Given the description of an element on the screen output the (x, y) to click on. 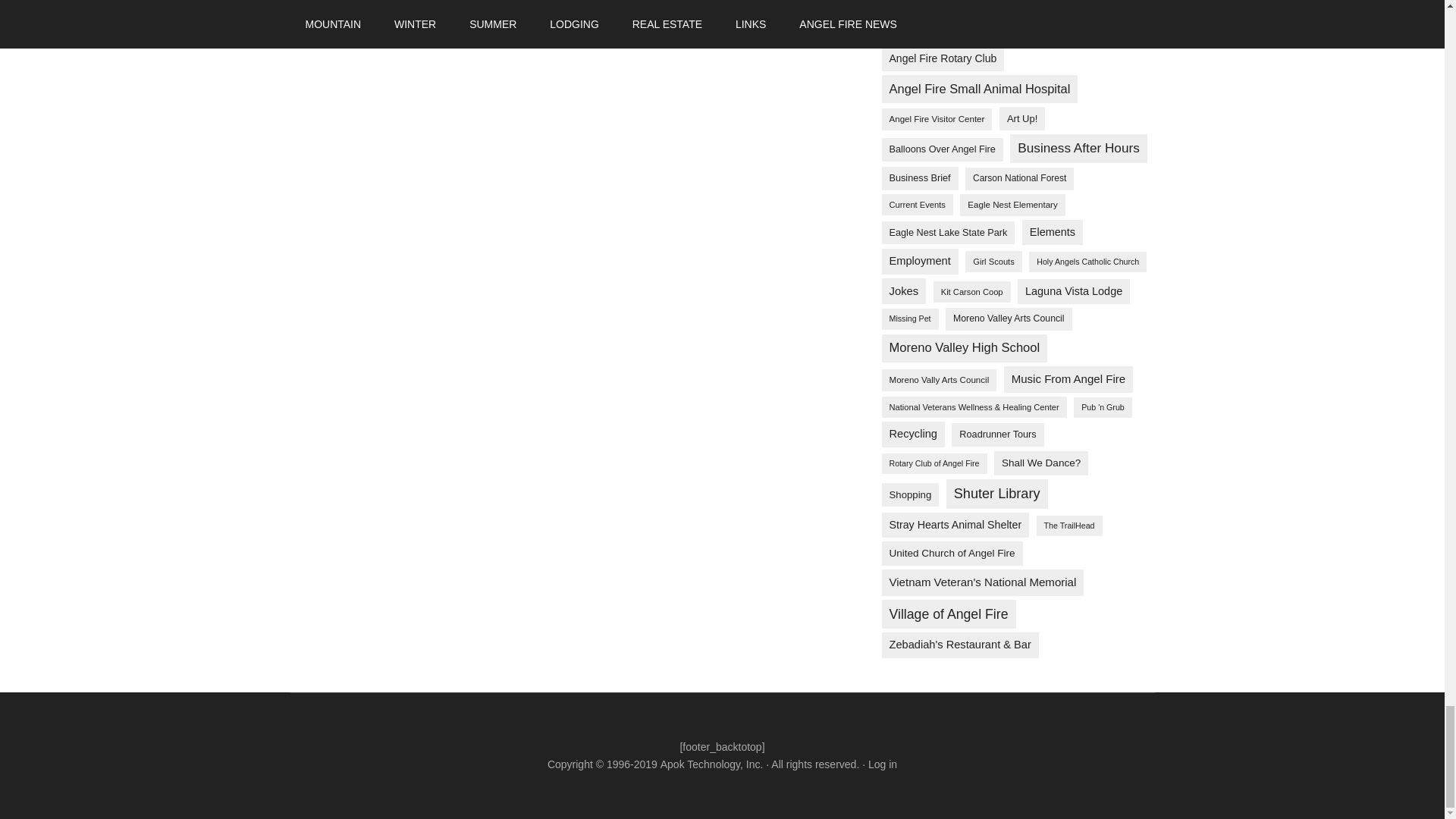
ColdFusion Development (711, 764)
